Given the description of an element on the screen output the (x, y) to click on. 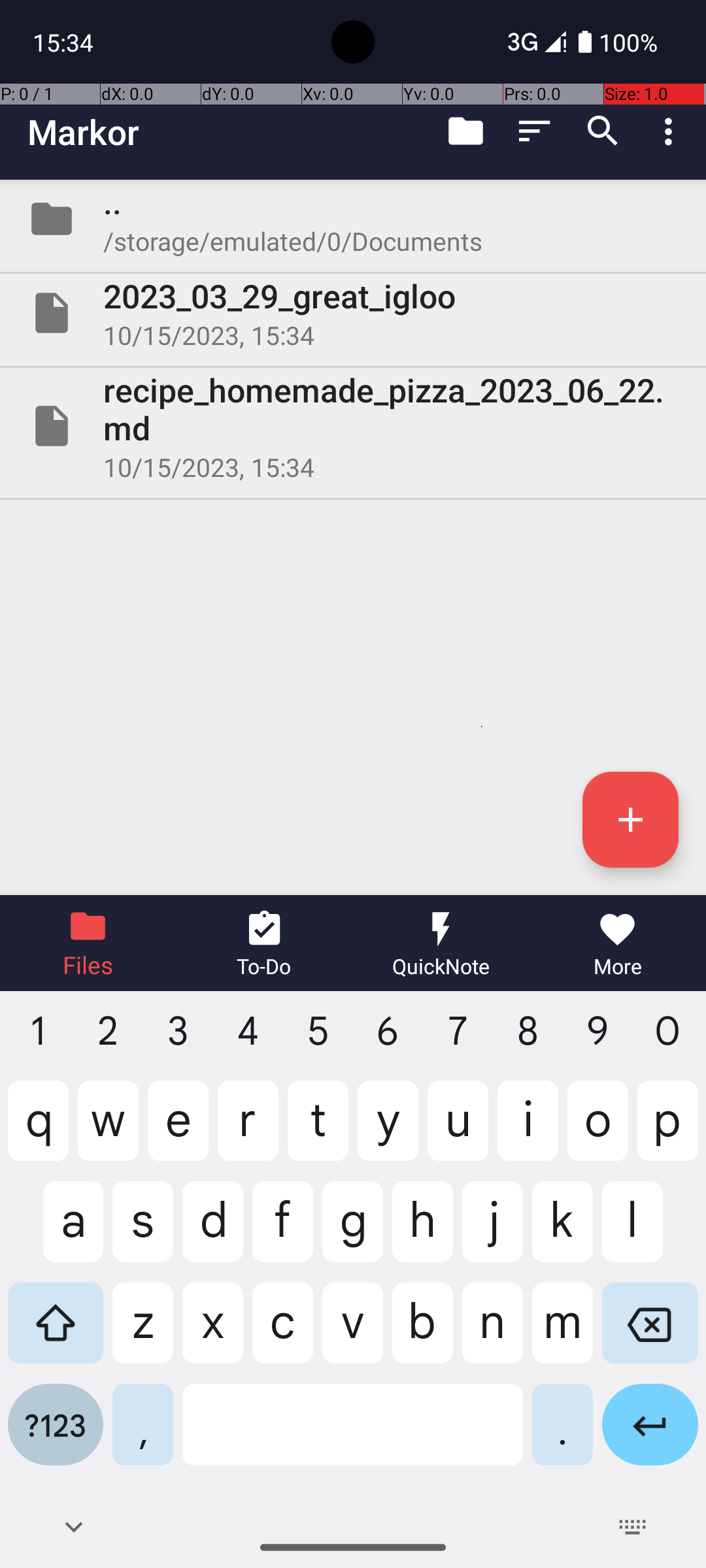
File 2023_03_29_great_igloo  Element type: android.widget.LinearLayout (353, 312)
File recipe_homemade_pizza_2023_06_22.md  Element type: android.widget.LinearLayout (353, 425)
